Given the description of an element on the screen output the (x, y) to click on. 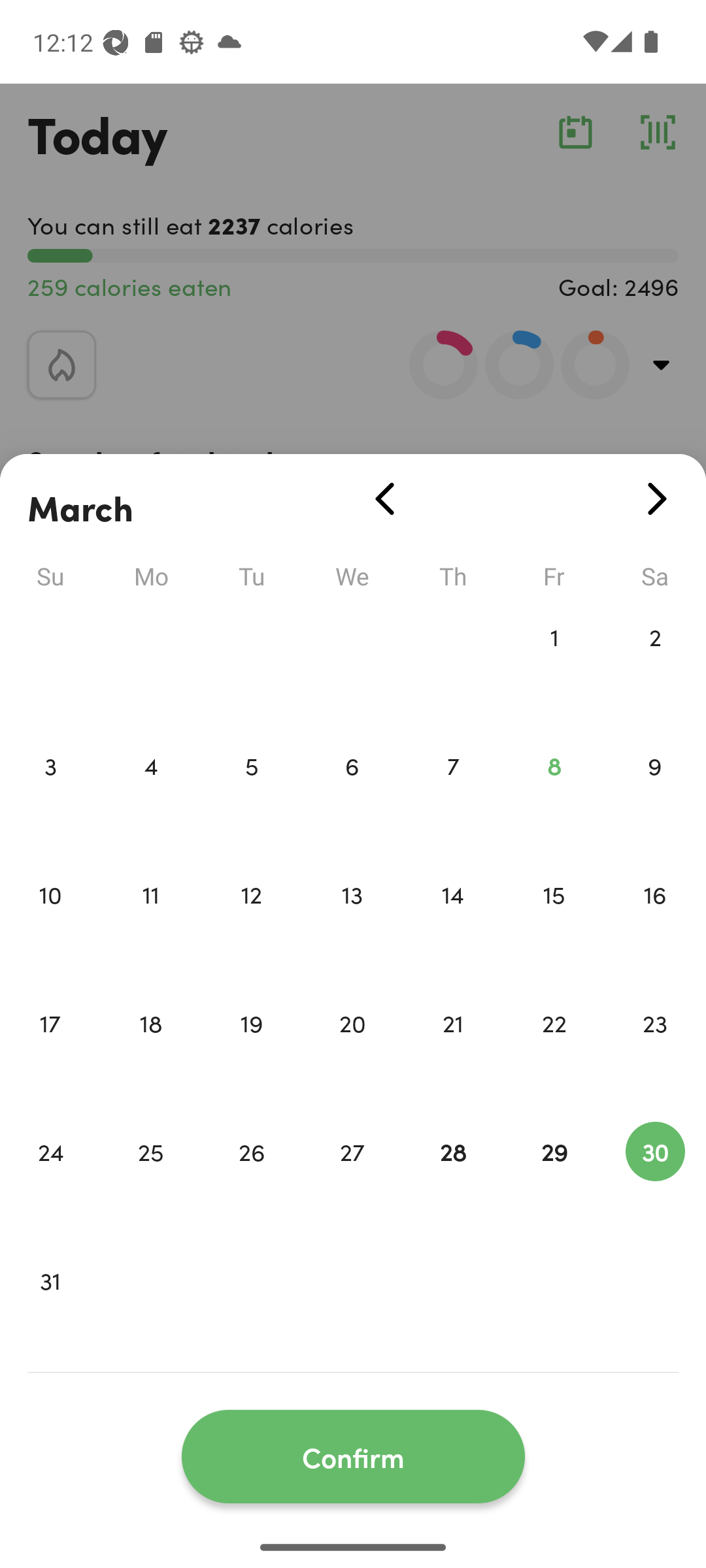
1 (554, 663)
2 (655, 663)
3 (50, 793)
4 (150, 793)
5 (251, 793)
6 (352, 793)
7 (453, 793)
8 (554, 793)
9 (655, 793)
10 (50, 921)
11 (150, 921)
12 (251, 921)
13 (352, 921)
14 (453, 921)
15 (554, 921)
16 (655, 921)
17 (50, 1050)
18 (150, 1050)
19 (251, 1050)
20 (352, 1050)
21 (453, 1050)
22 (554, 1050)
23 (655, 1050)
24 (50, 1178)
25 (150, 1178)
26 (251, 1178)
27 (352, 1178)
28 (453, 1178)
29 (554, 1178)
30 (655, 1178)
31 (50, 1307)
Confirm (353, 1456)
